Given the description of an element on the screen output the (x, y) to click on. 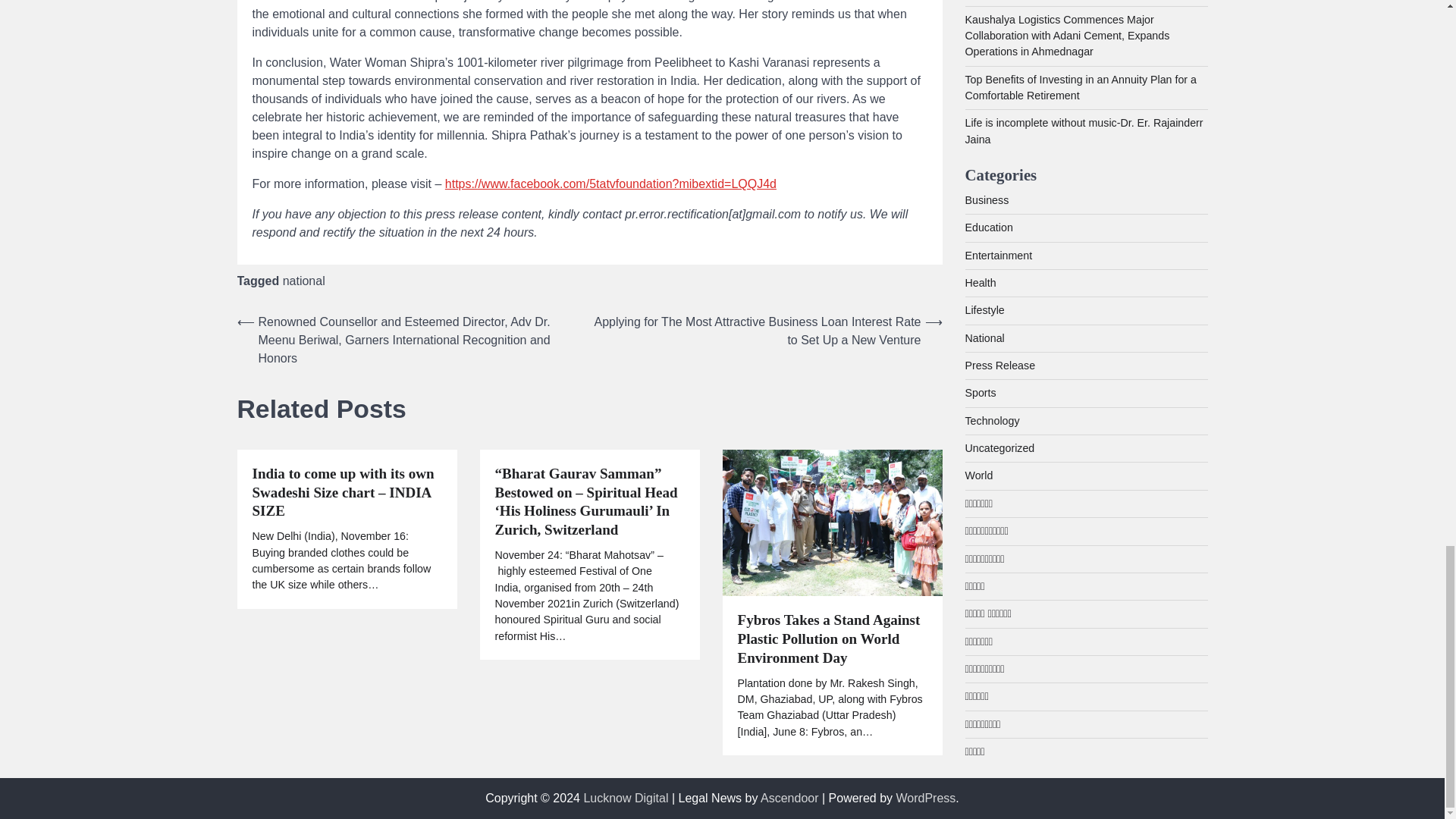
national (303, 280)
